Given the description of an element on the screen output the (x, y) to click on. 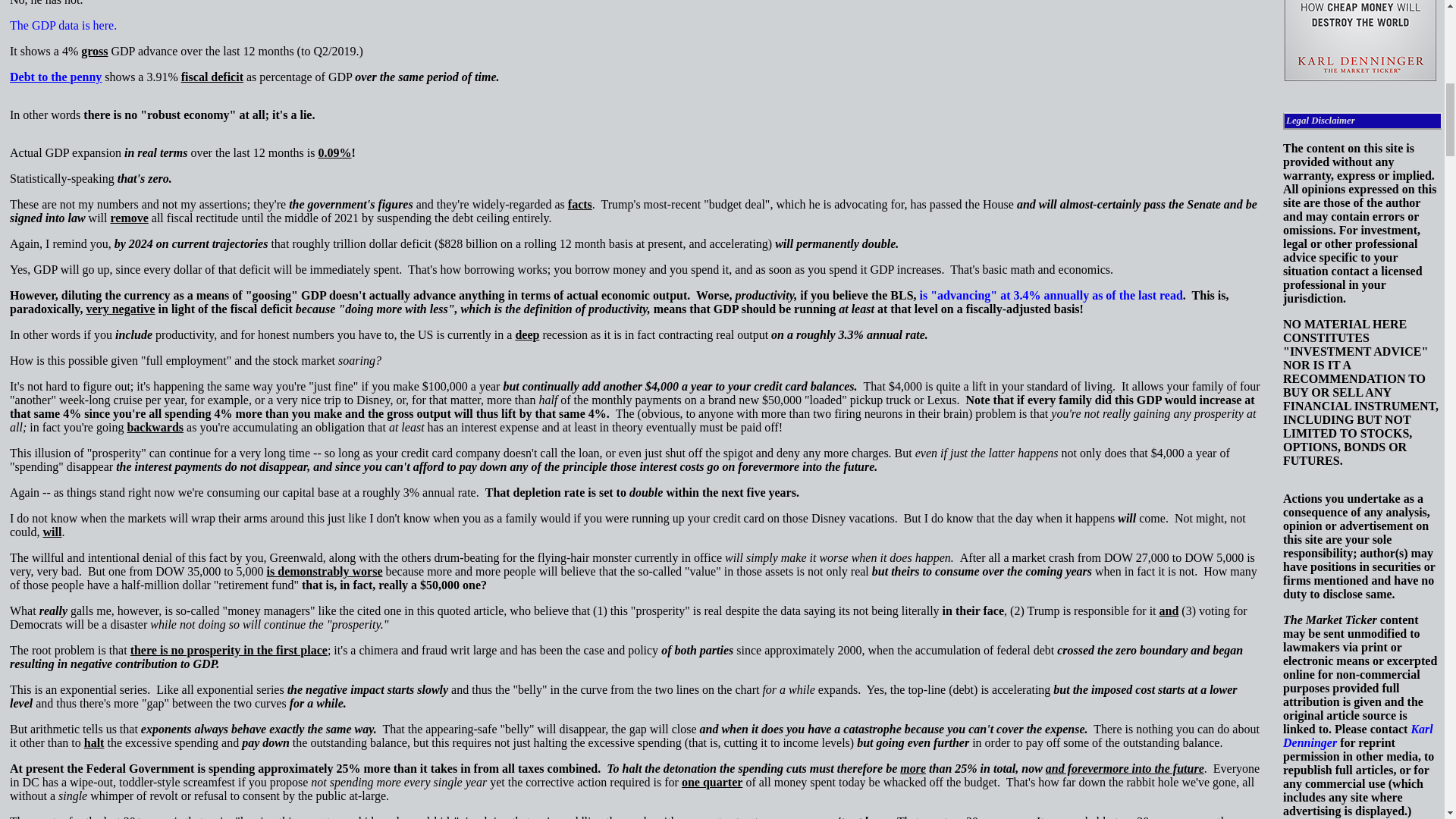
The GDP data is here. (63, 24)
Karl Denninger (1357, 735)
Debt to the penny (57, 76)
